Given the description of an element on the screen output the (x, y) to click on. 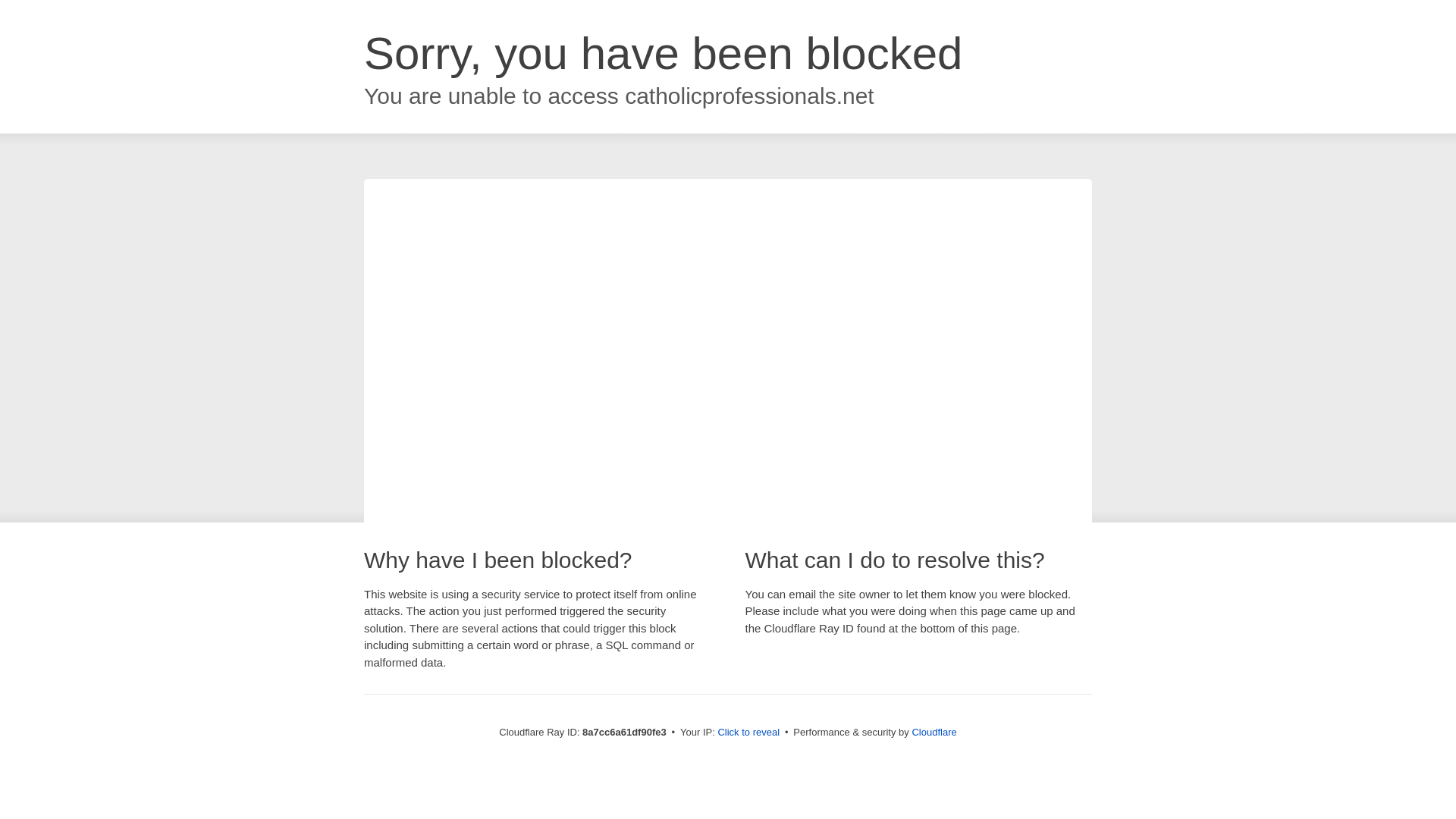
Cloudflare (933, 731)
Click to reveal (747, 732)
